Given the description of an element on the screen output the (x, y) to click on. 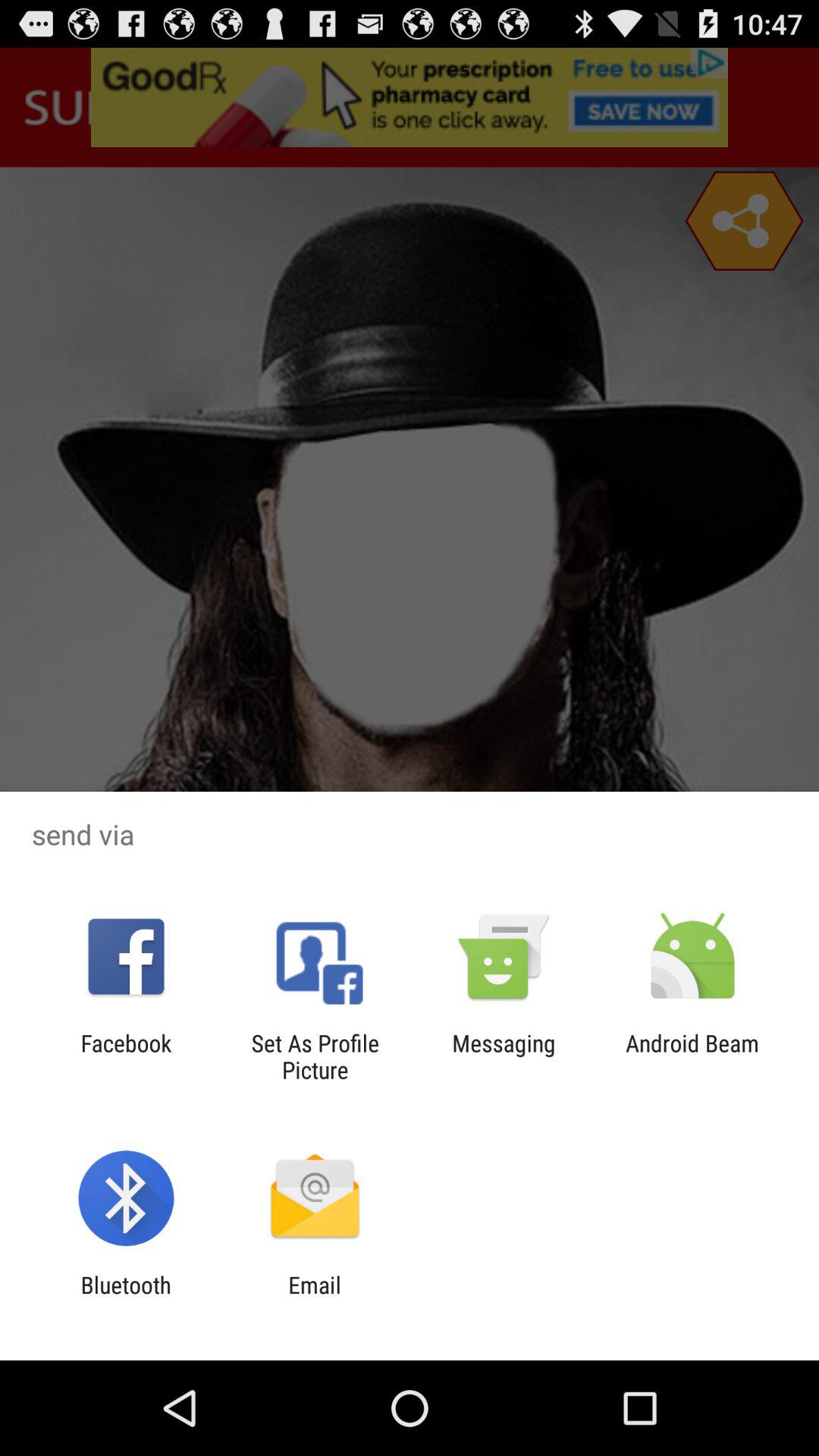
flip to the bluetooth icon (125, 1298)
